Given the description of an element on the screen output the (x, y) to click on. 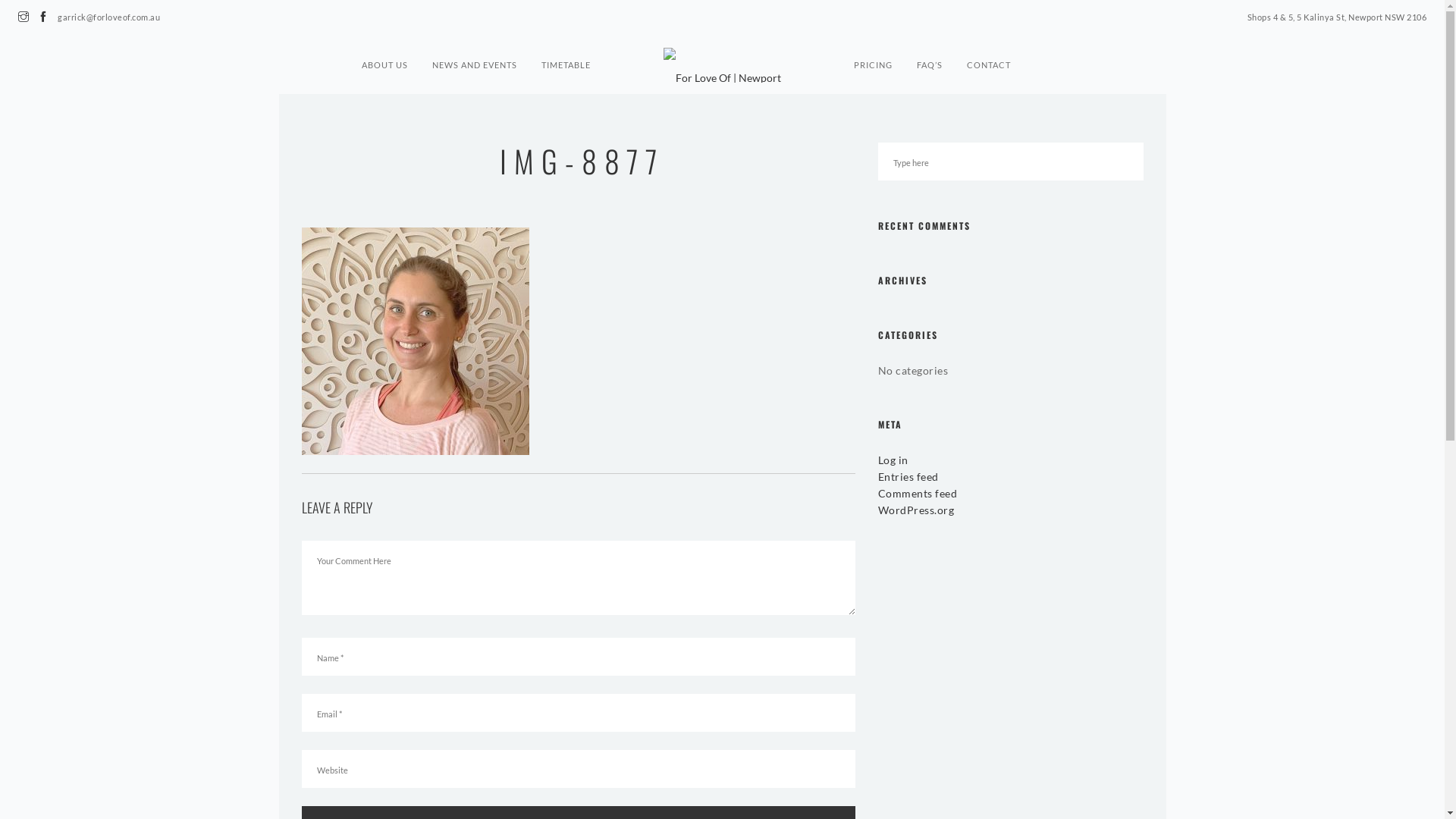
WordPress.org Element type: text (916, 509)
ABOUT US Element type: text (384, 57)
Log in Element type: text (893, 459)
TIMETABLE Element type: text (565, 57)
PRICING Element type: text (872, 57)
NEWS AND EVENTS Element type: text (474, 57)
CONTACT Element type: text (988, 57)
Comments feed Element type: text (917, 492)
Entries feed Element type: text (908, 476)
